Given the description of an element on the screen output the (x, y) to click on. 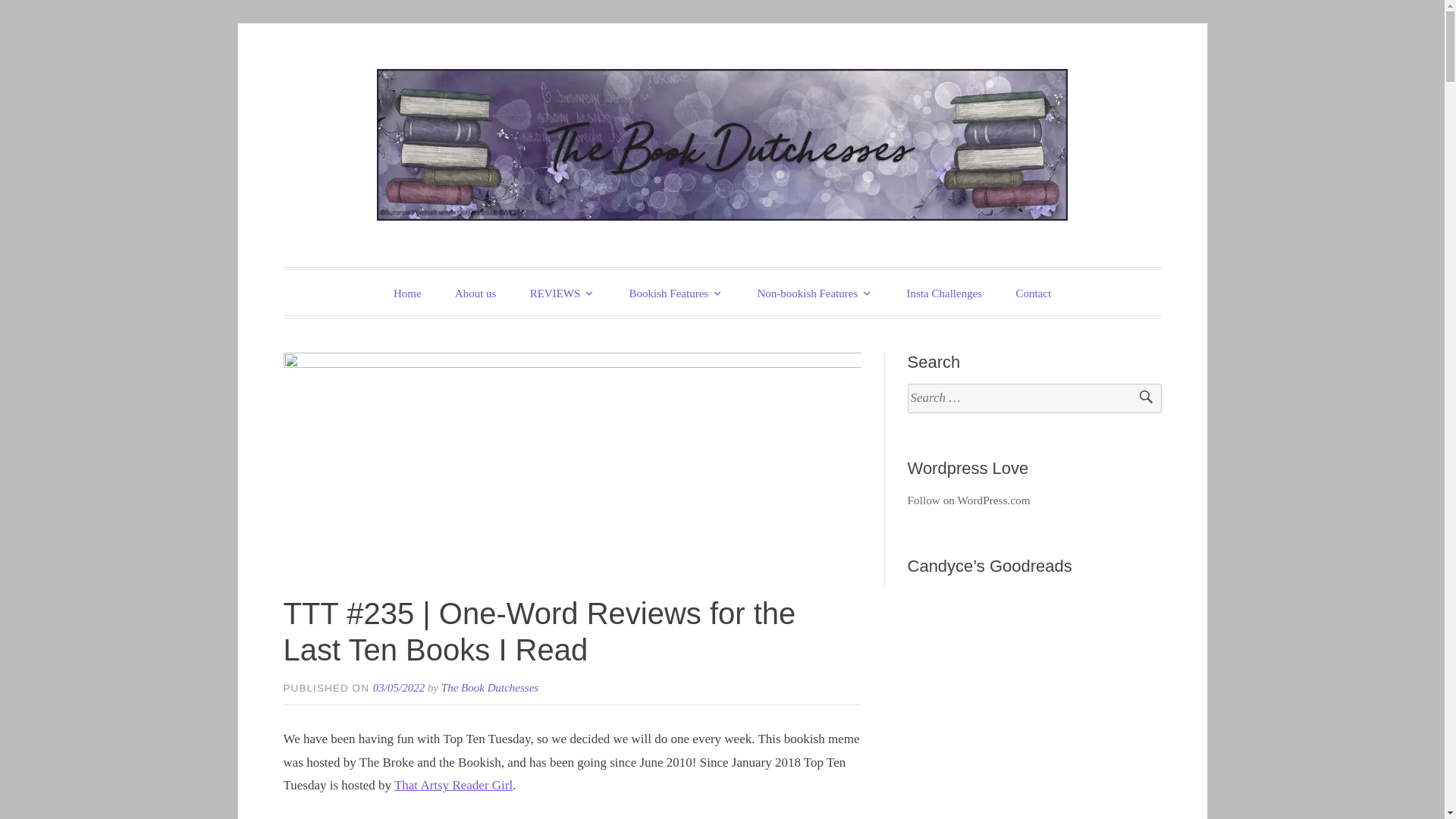
Search (1138, 398)
Non-bookish Features (814, 292)
Insta Challenges (944, 294)
Bookish Features (676, 292)
REVIEWS (563, 292)
Search (1138, 398)
The Book Dutchesses (561, 267)
Contact (1032, 294)
About us (475, 294)
Home (407, 294)
